Given the description of an element on the screen output the (x, y) to click on. 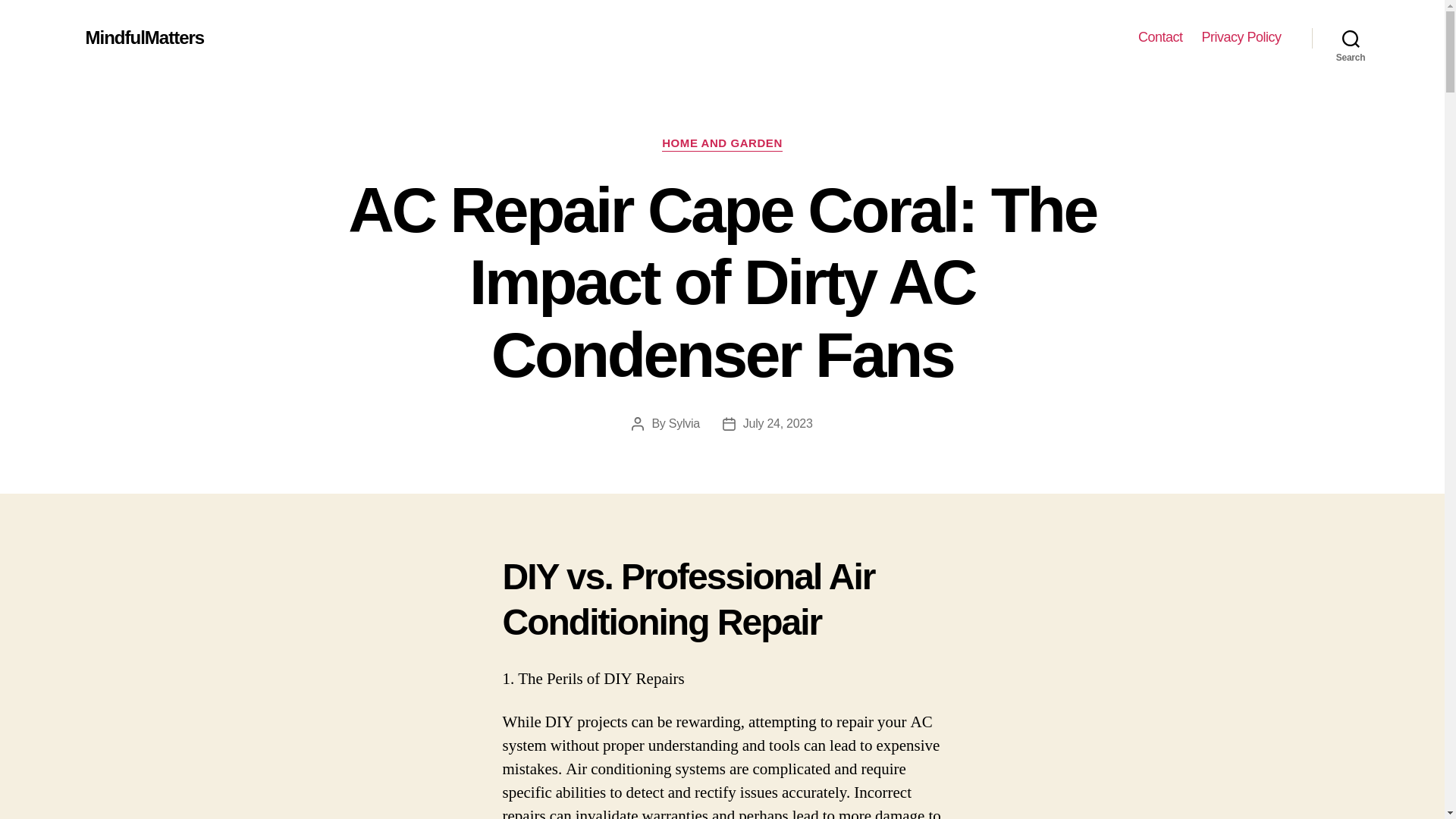
HOME AND GARDEN (722, 143)
July 24, 2023 (777, 422)
Contact (1160, 37)
Privacy Policy (1241, 37)
Search (1350, 37)
MindfulMatters (143, 37)
Sylvia (684, 422)
